Given the description of an element on the screen output the (x, y) to click on. 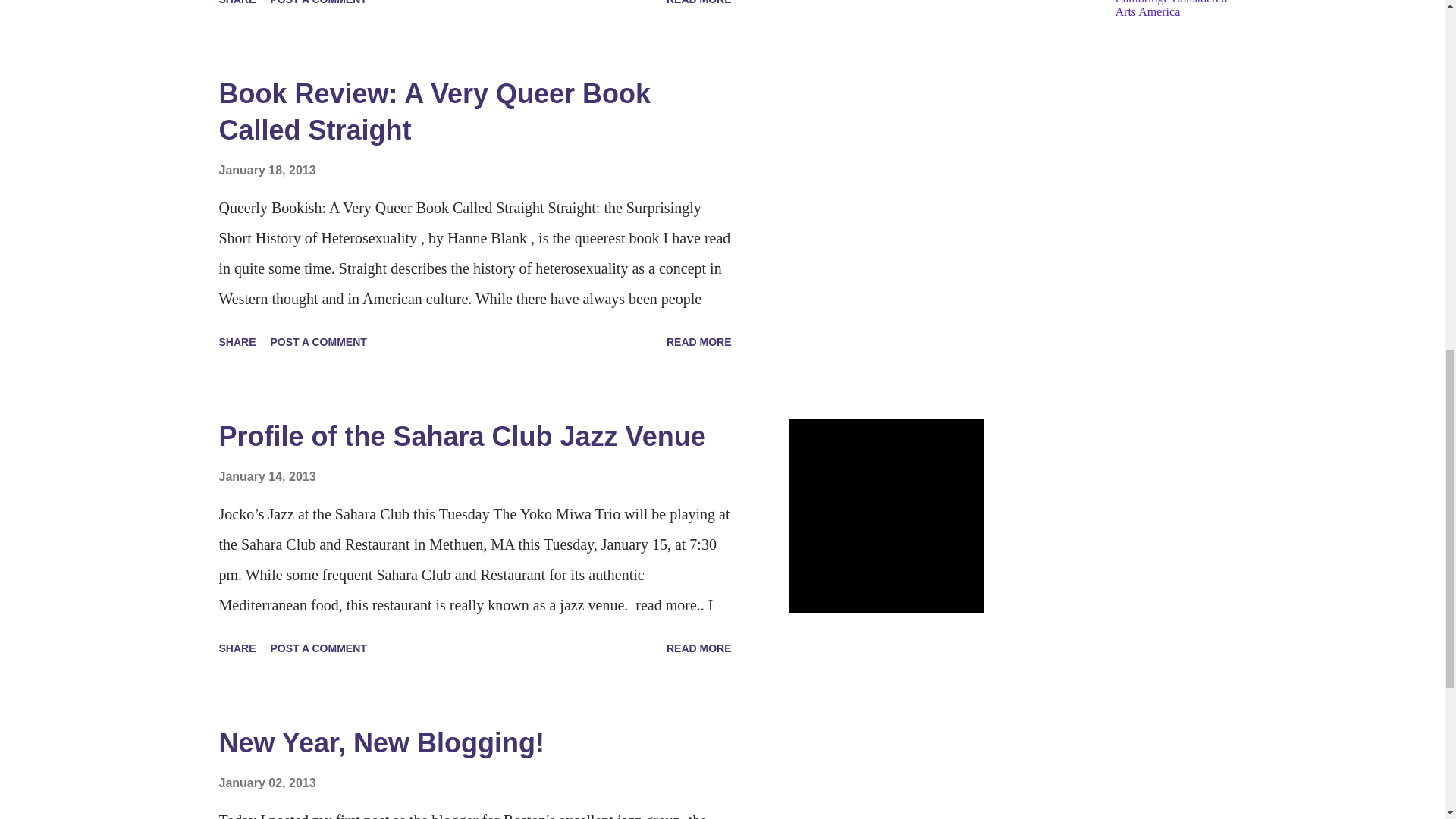
POST A COMMENT (318, 341)
POST A COMMENT (318, 5)
SHARE (237, 5)
SHARE (237, 648)
READ MORE (699, 5)
Book Review: A Very Queer Book Called Straight (434, 111)
READ MORE (699, 341)
Profile of the Sahara Club Jazz Venue (461, 436)
January 14, 2013 (266, 476)
SHARE (237, 341)
